Given the description of an element on the screen output the (x, y) to click on. 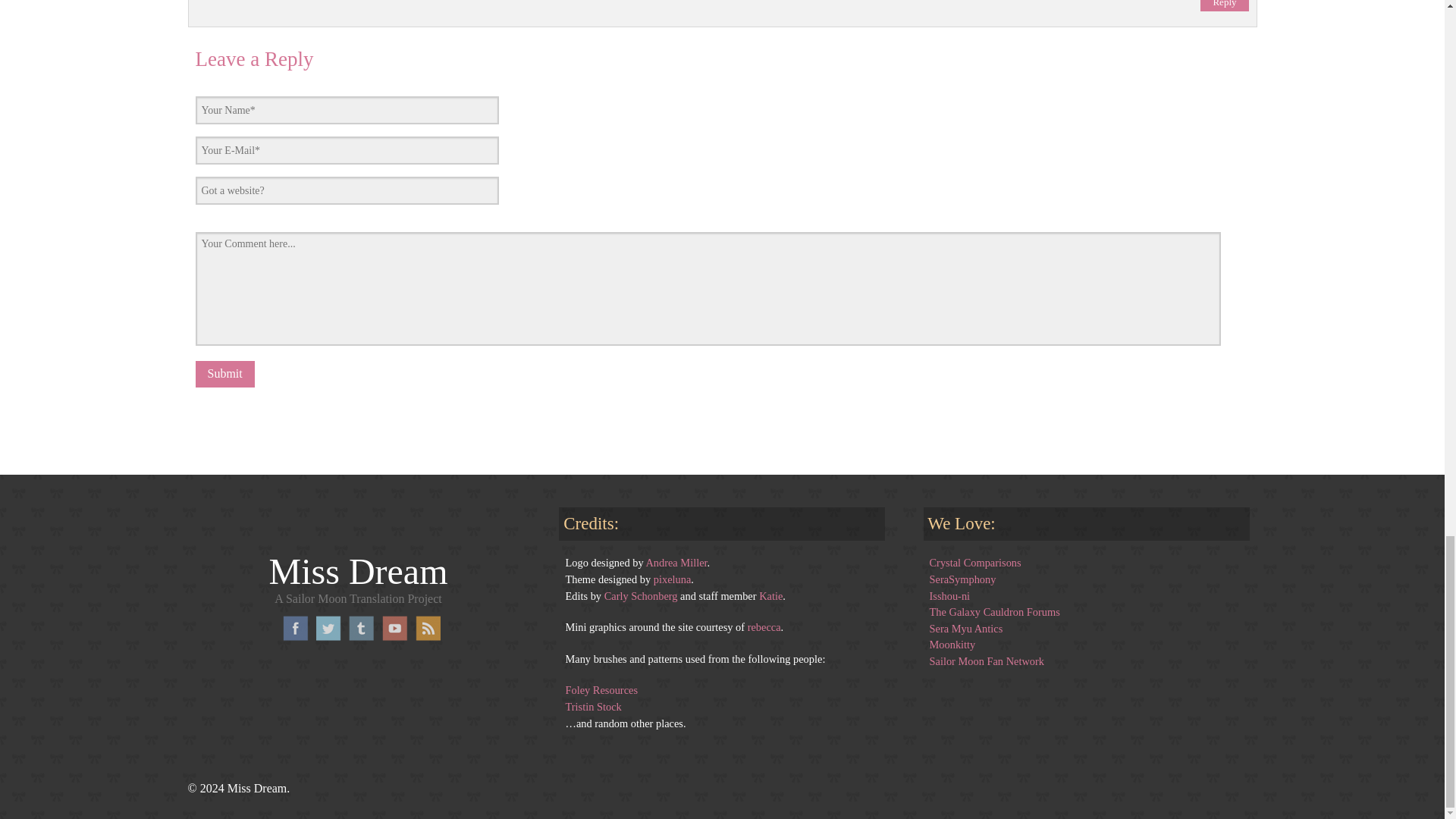
Submit (224, 374)
